Given the description of an element on the screen output the (x, y) to click on. 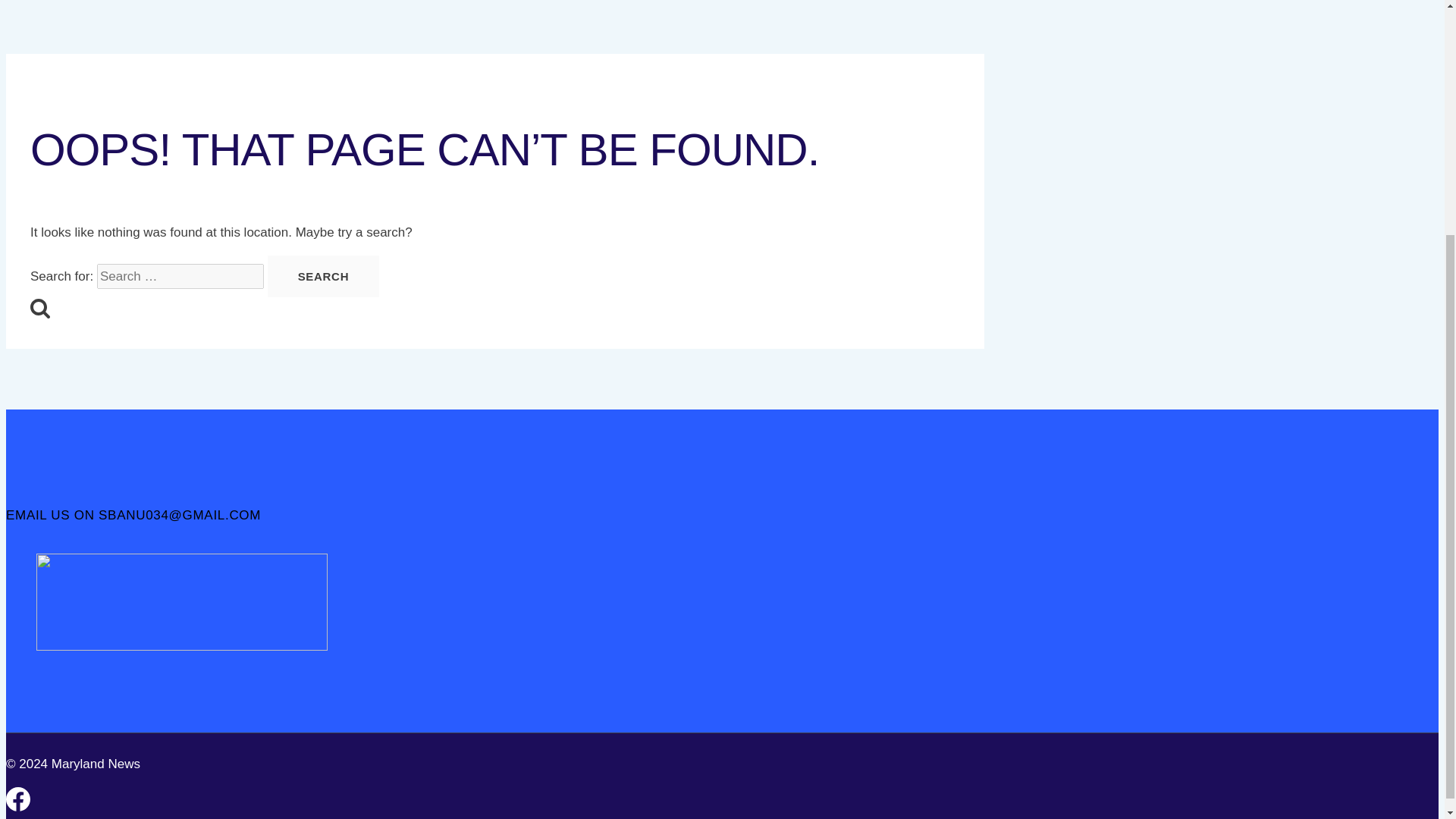
Search (323, 276)
Facebook (17, 799)
Search (39, 307)
Facebook (17, 807)
Search (323, 276)
Search (323, 276)
